Given the description of an element on the screen output the (x, y) to click on. 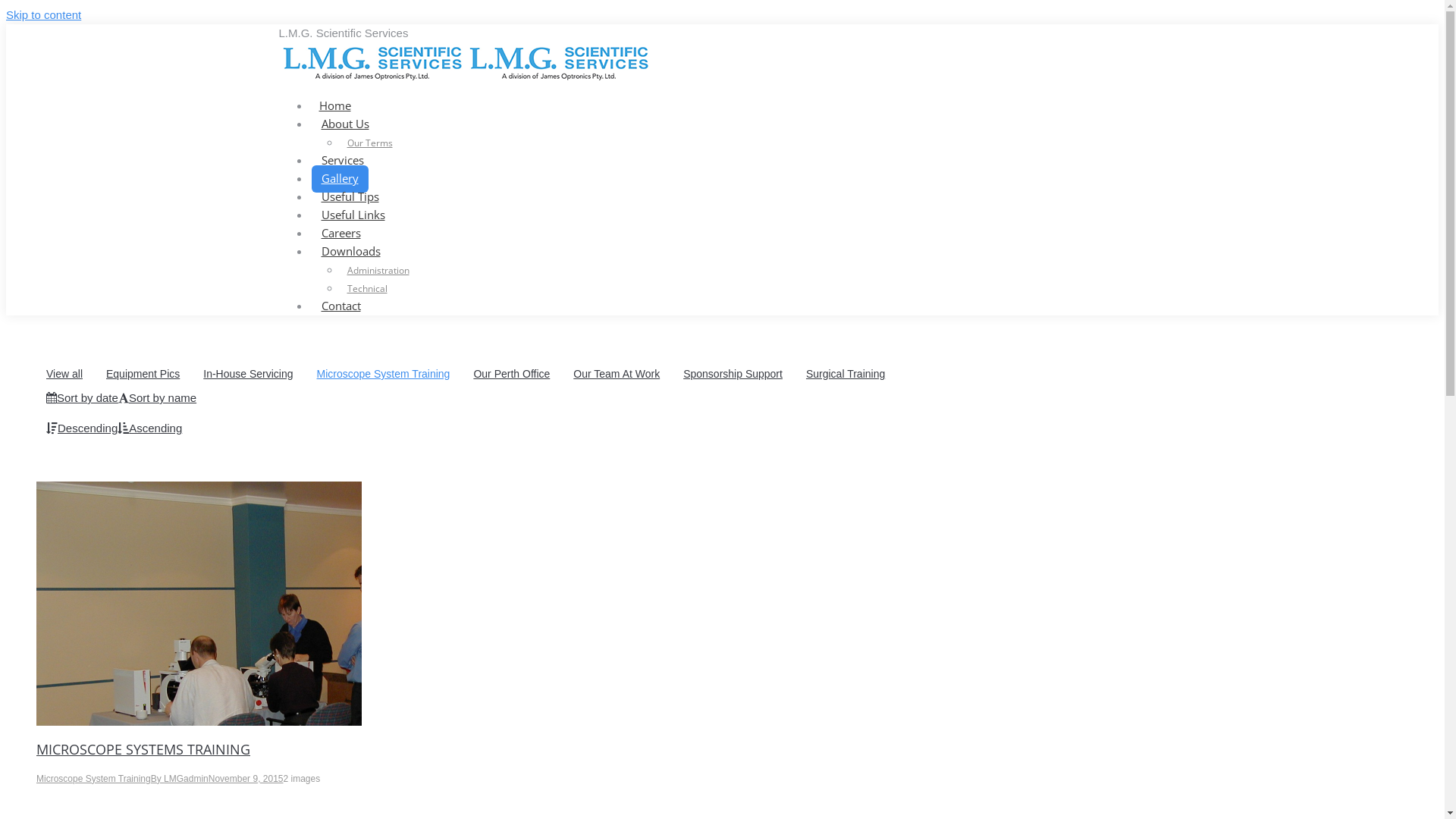
Careers Element type: text (340, 233)
View all Element type: text (64, 373)
Sort by name Element type: text (157, 397)
Descending Element type: text (81, 427)
Equipment Pics Element type: text (142, 373)
Technical Element type: text (374, 287)
In-House Servicing Element type: text (247, 373)
Surgical Training Element type: text (845, 373)
Ascending Element type: text (149, 427)
Skip to content Element type: text (43, 14)
Downloads Element type: text (349, 251)
Microscope System Training Element type: text (93, 778)
MICROSCOPE SYSTEMS TRAINING Element type: text (143, 749)
Home Element type: text (334, 105)
OLYMPUS DIGITAL CAMERA Element type: hover (198, 603)
Useful Tips Element type: text (349, 196)
Contact Element type: text (340, 306)
Useful Links Element type: text (352, 215)
November 9, 2015 Element type: text (245, 778)
Sponsorship Support Element type: text (732, 373)
Our Terms Element type: text (377, 141)
About Us Element type: text (344, 124)
Our Perth Office Element type: text (511, 373)
Microscope System Training Element type: text (383, 373)
By LMGadmin Element type: text (179, 778)
Gallery Element type: text (338, 178)
Services Element type: text (341, 160)
Sort by date Element type: text (82, 397)
Administration Element type: text (385, 269)
Our Team At Work Element type: text (616, 373)
